Given the description of an element on the screen output the (x, y) to click on. 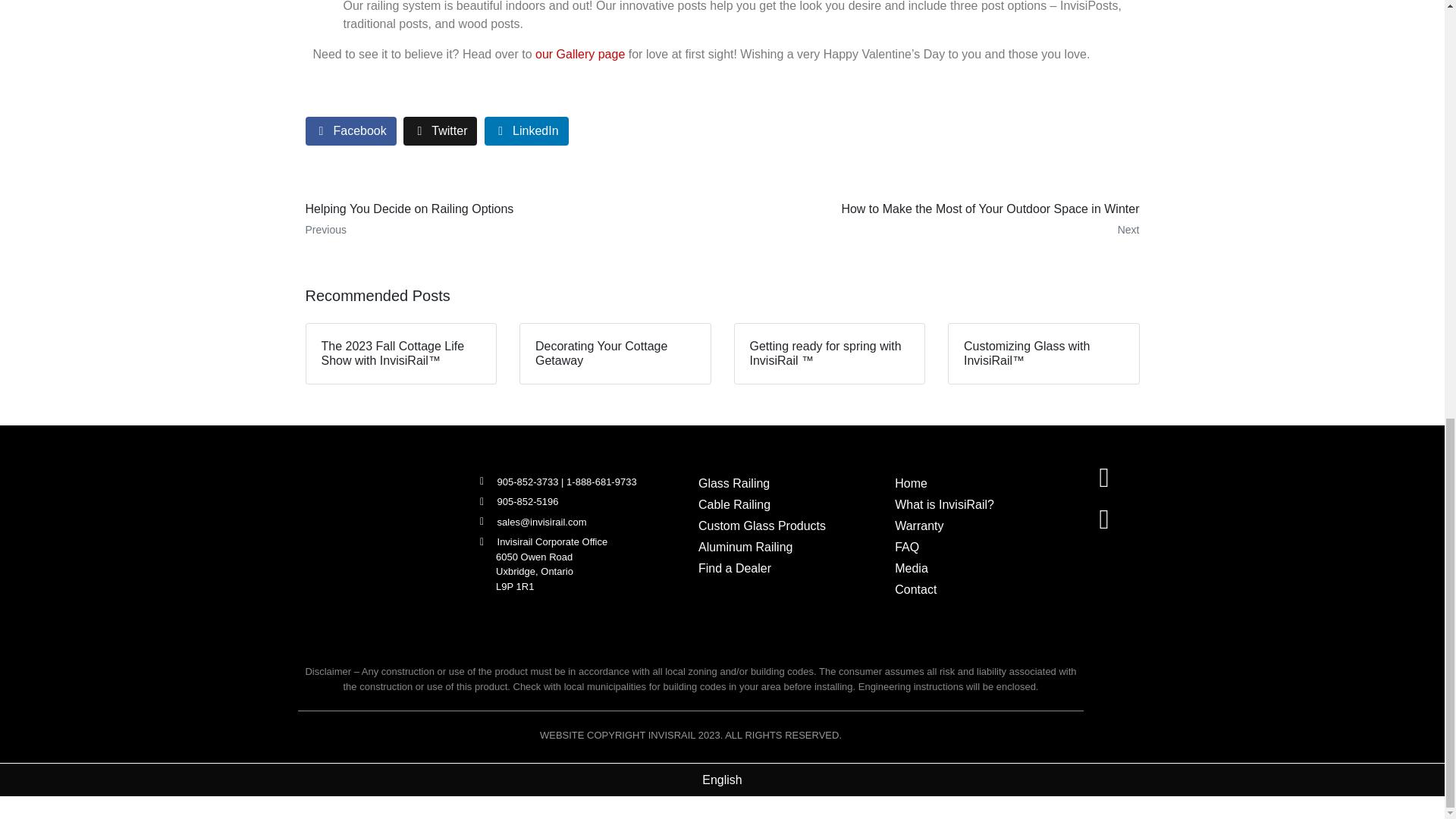
our Gallery page (579, 53)
How to Make the Most of Your Outdoor Space in Winter (936, 219)
Helping You Decide on Railing Options (508, 219)
